Given the description of an element on the screen output the (x, y) to click on. 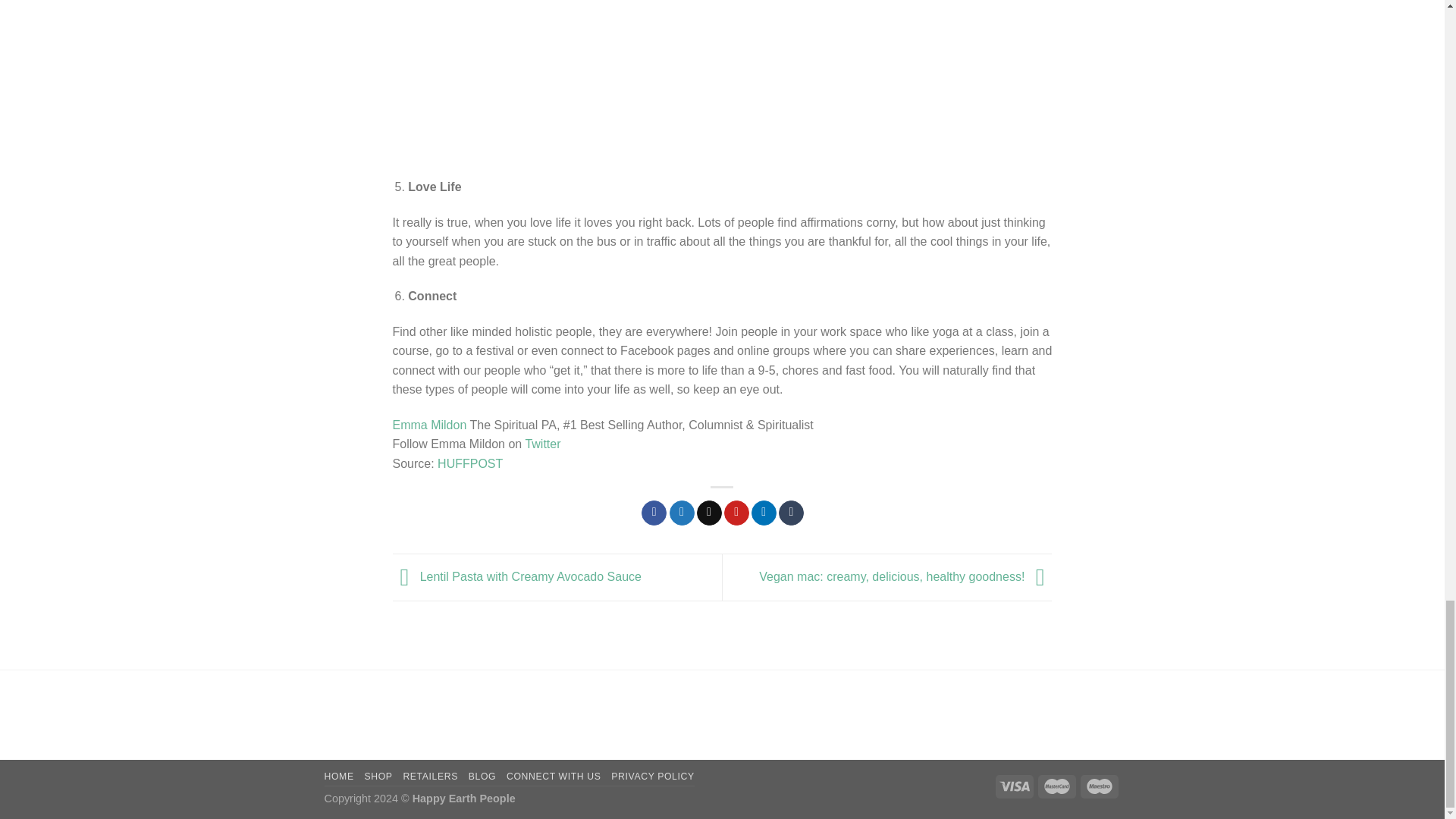
Follow on Facebook (1080, 705)
Lentil Pasta with Creamy Avocado Sauce (517, 576)
HUFFPOST (470, 463)
Share on LinkedIn (763, 513)
Emma Mildon (430, 424)
Email to a Friend (709, 513)
SHOP (377, 776)
RETAILERS (430, 776)
HOME (338, 776)
Twitter (542, 443)
Pin on Pinterest (736, 513)
Share on Facebook (654, 513)
Share on Tumblr (790, 513)
Vegan mac: creamy, delicious, healthy goodness! (904, 576)
Follow on Instagram (1108, 705)
